Given the description of an element on the screen output the (x, y) to click on. 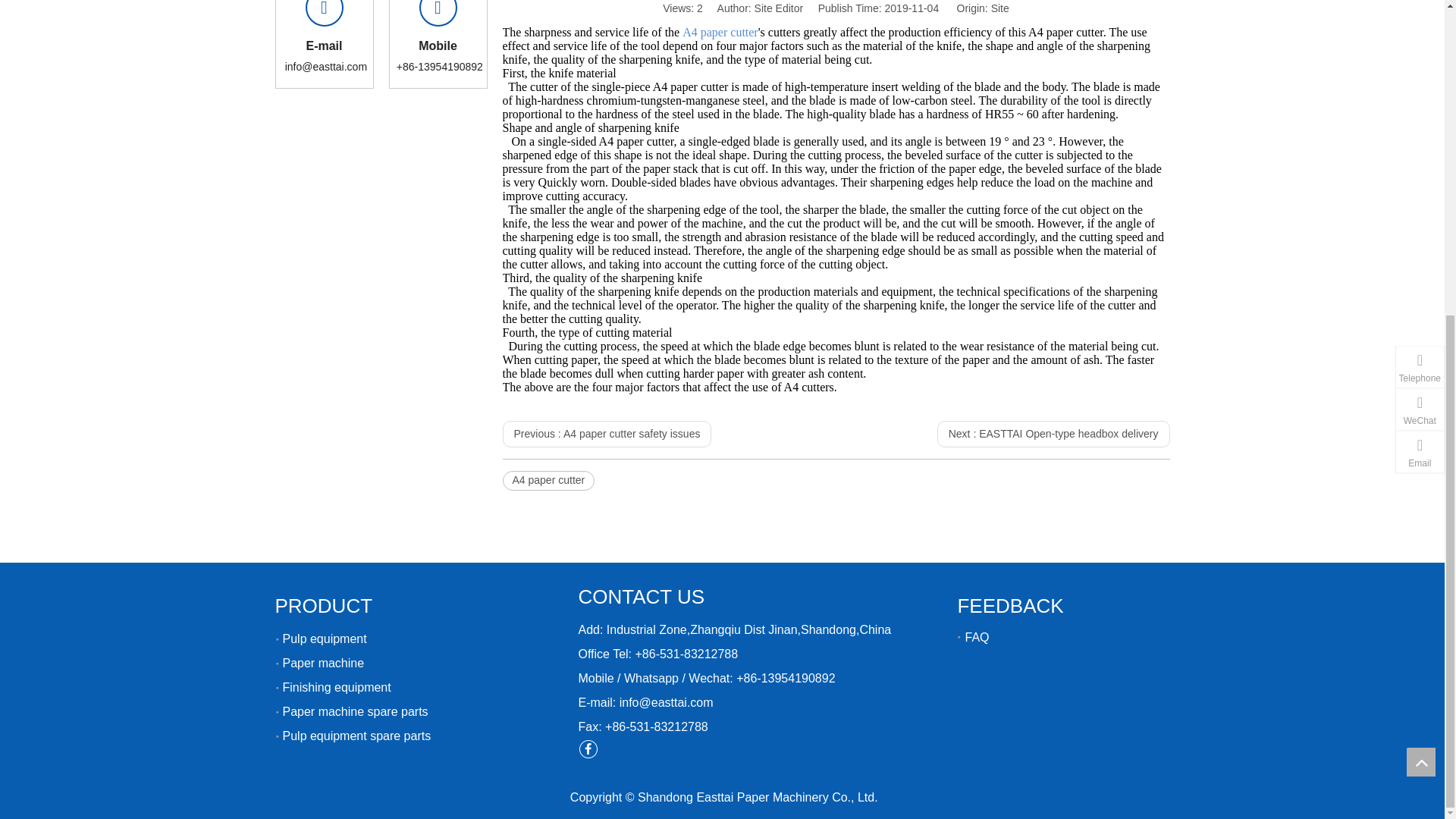
Paper machine (323, 662)
Paper machine (323, 662)
A4 paper cutter (548, 480)
Finishing equipment (336, 686)
Previous : A4 paper cutter safety issues (606, 433)
Pulp equipment (324, 638)
Pulp equipment (324, 638)
A4 paper cutter (720, 31)
Paper machine spare parts (355, 711)
Pulp equipment spare parts (356, 735)
Site (1000, 8)
FAQ (975, 636)
Finishing equipment (336, 686)
Paper machine spare parts (355, 711)
Next : EASTTAI Open-type headbox delivery (1053, 433)
